Given the description of an element on the screen output the (x, y) to click on. 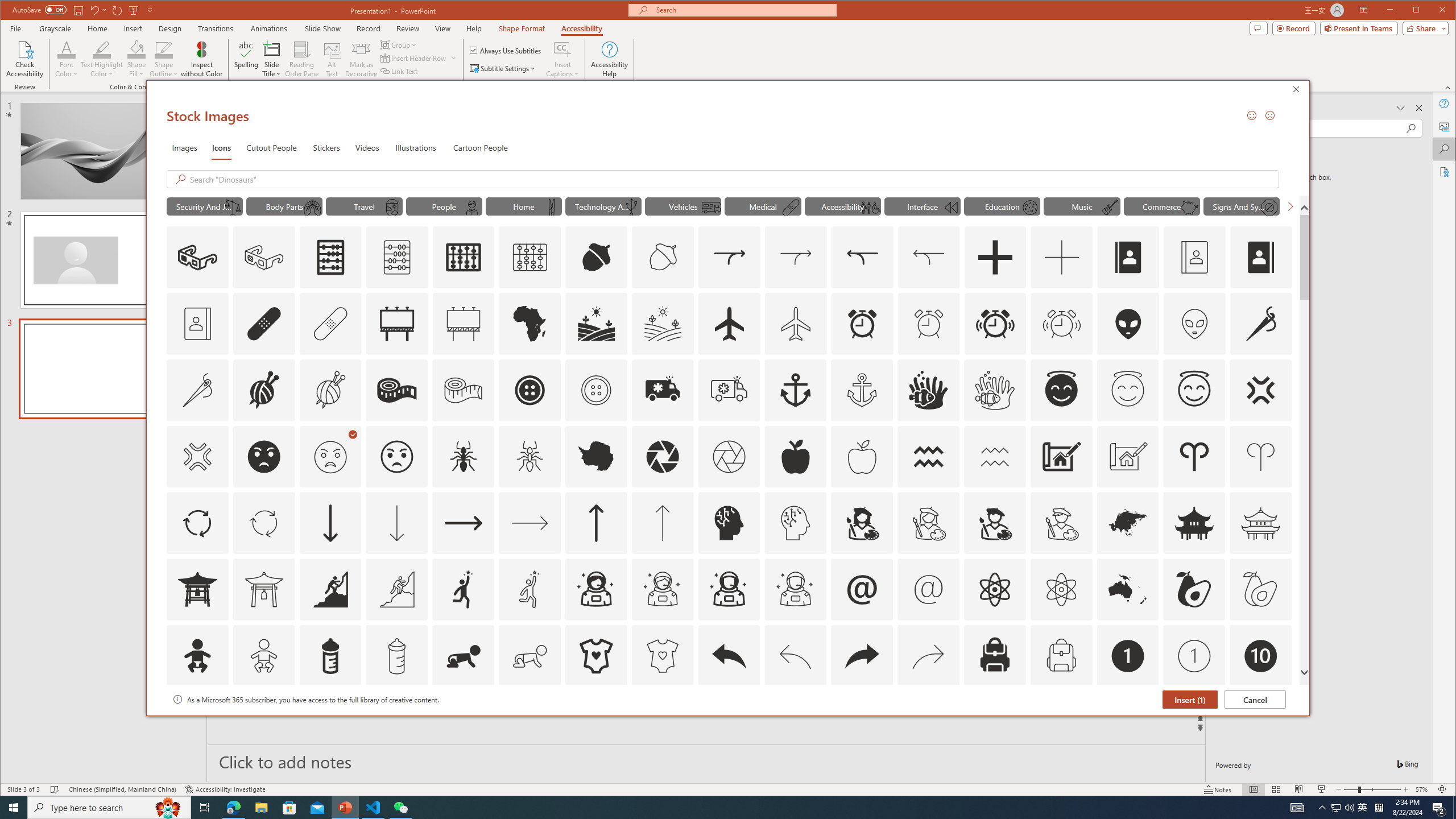
Stickers (326, 147)
AutomationID: Icons_Backpack (994, 655)
AutomationID: Icons_Badge8 (1061, 721)
AutomationID: Icons_AnemoneAndClownfish (928, 389)
